Given the description of an element on the screen output the (x, y) to click on. 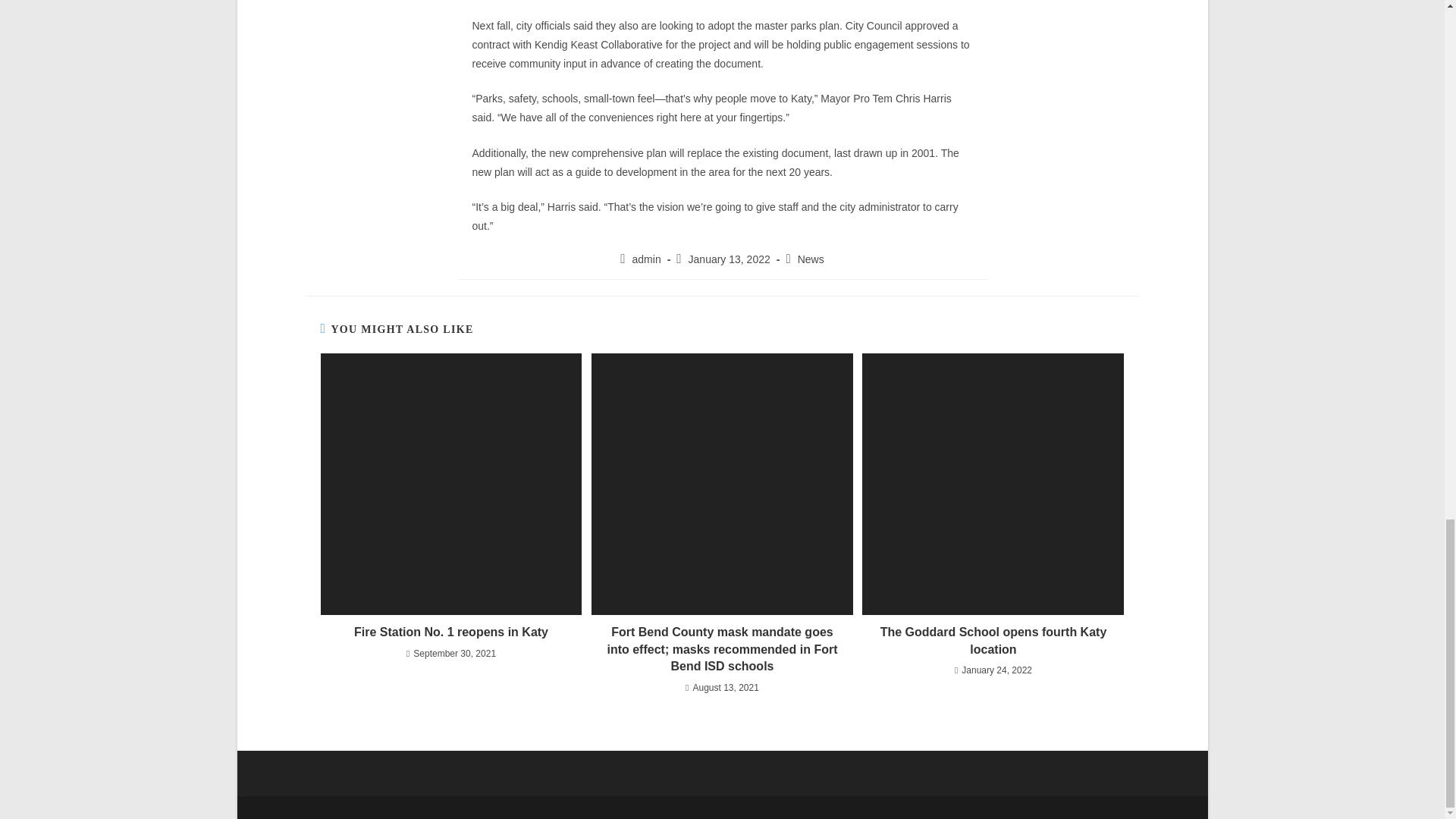
Fire Station No. 1 reopens in Katy (450, 632)
News (810, 259)
admin (646, 259)
Posts by admin (646, 259)
The Goddard School opens fourth Katy location (992, 641)
